Given the description of an element on the screen output the (x, y) to click on. 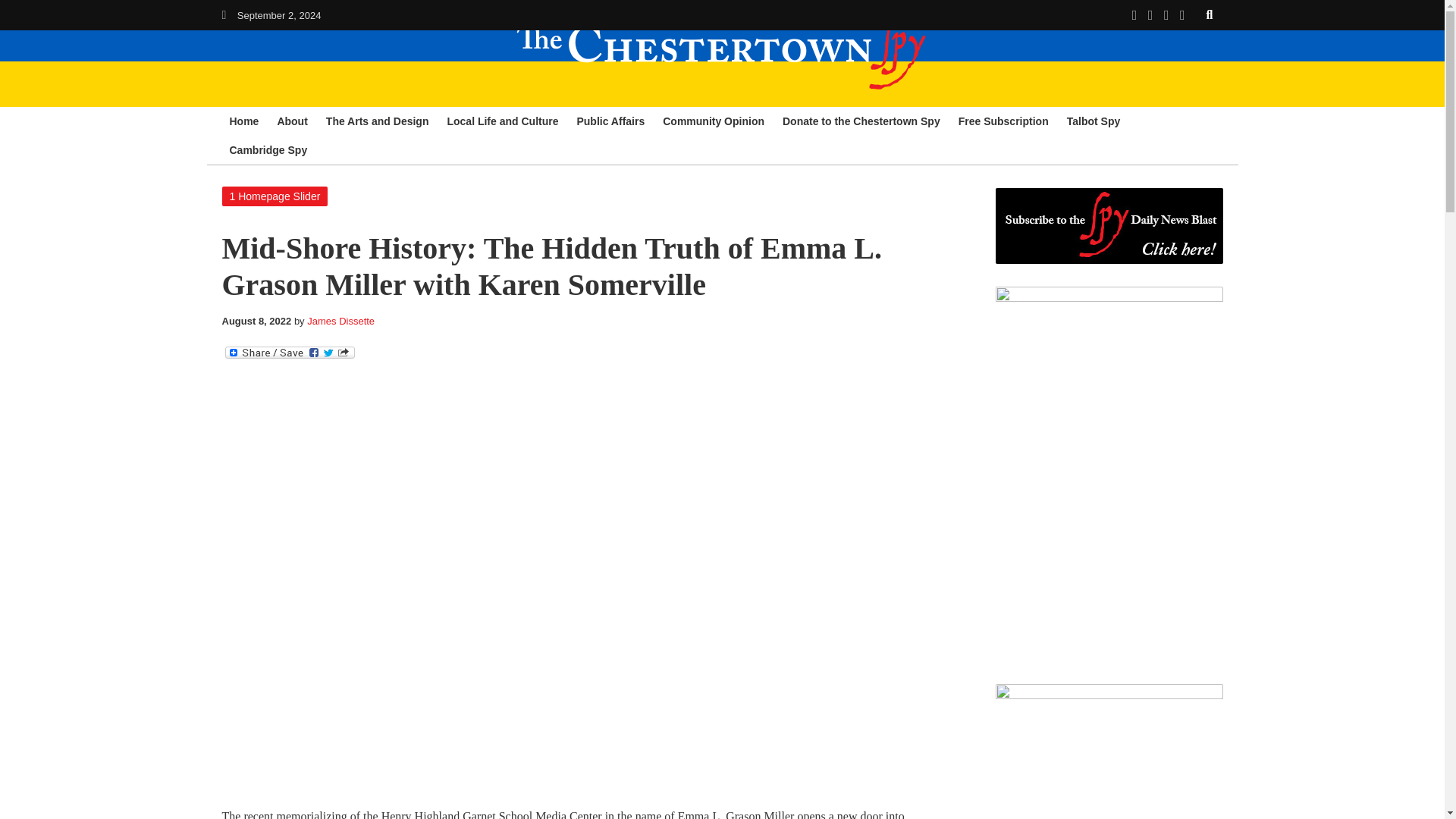
Search (1209, 14)
Search (1209, 14)
Search (1209, 14)
